Given the description of an element on the screen output the (x, y) to click on. 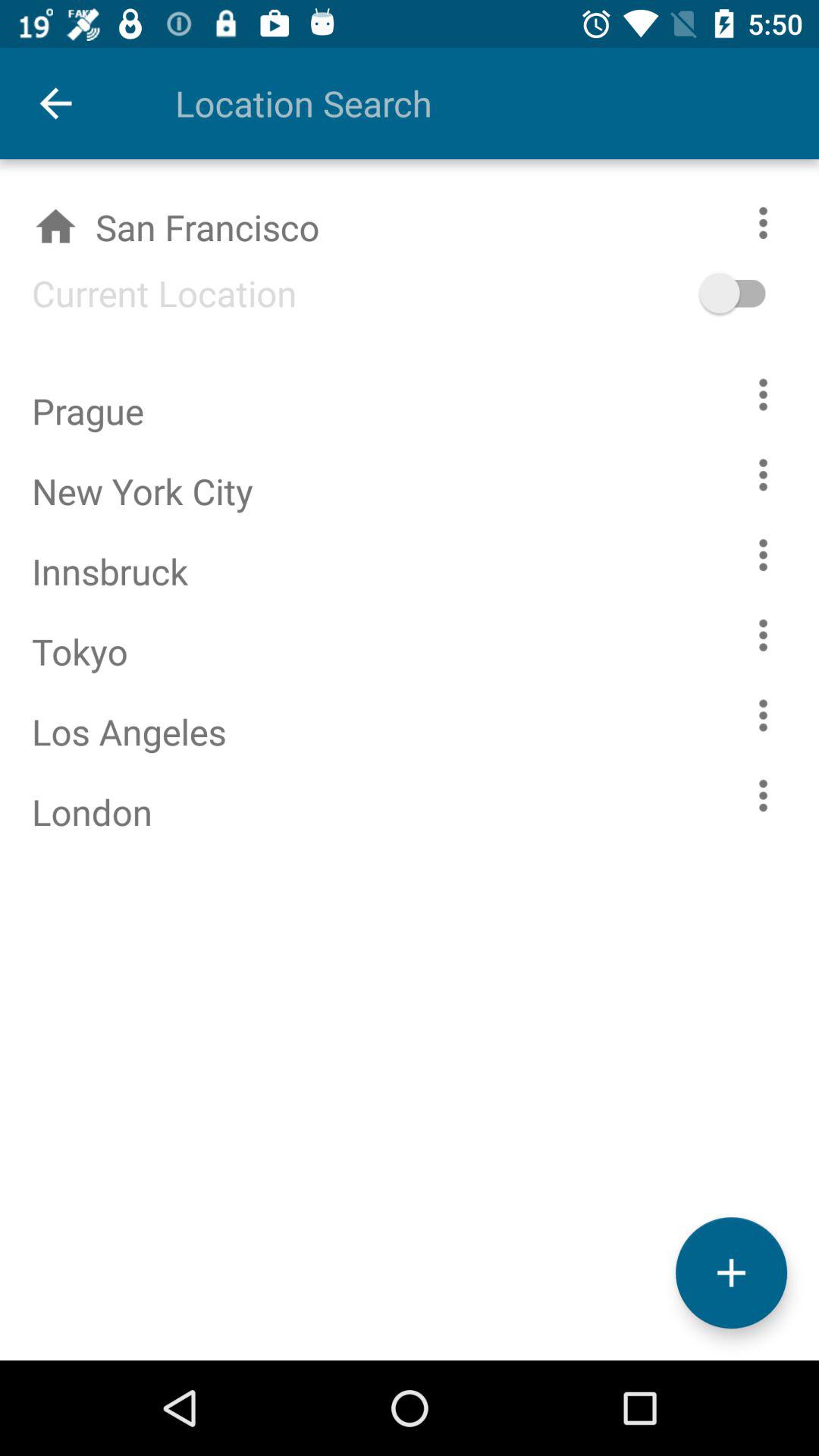
customization options (779, 222)
